Given the description of an element on the screen output the (x, y) to click on. 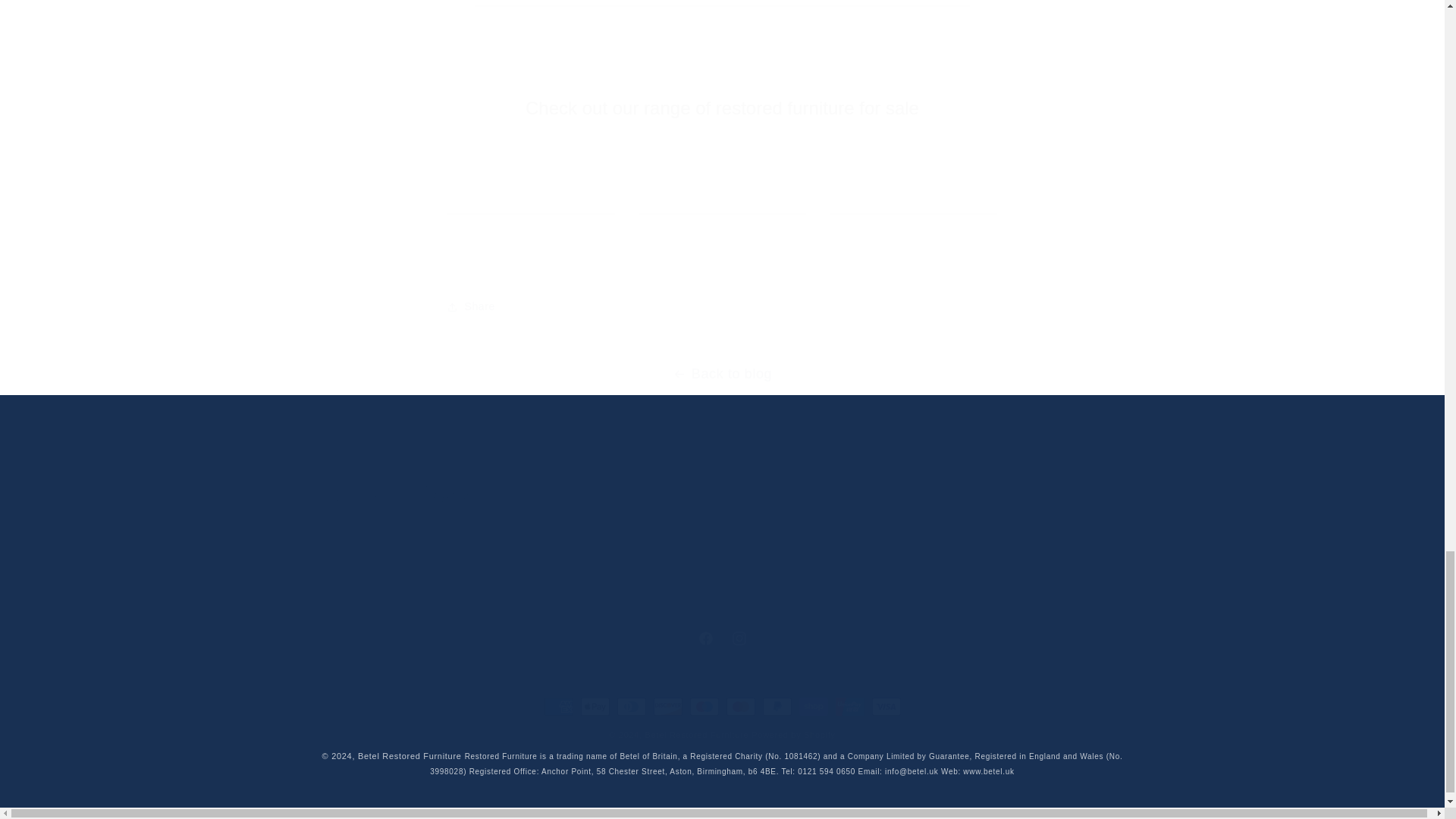
Share (721, 306)
Back to blog (721, 638)
